Given the description of an element on the screen output the (x, y) to click on. 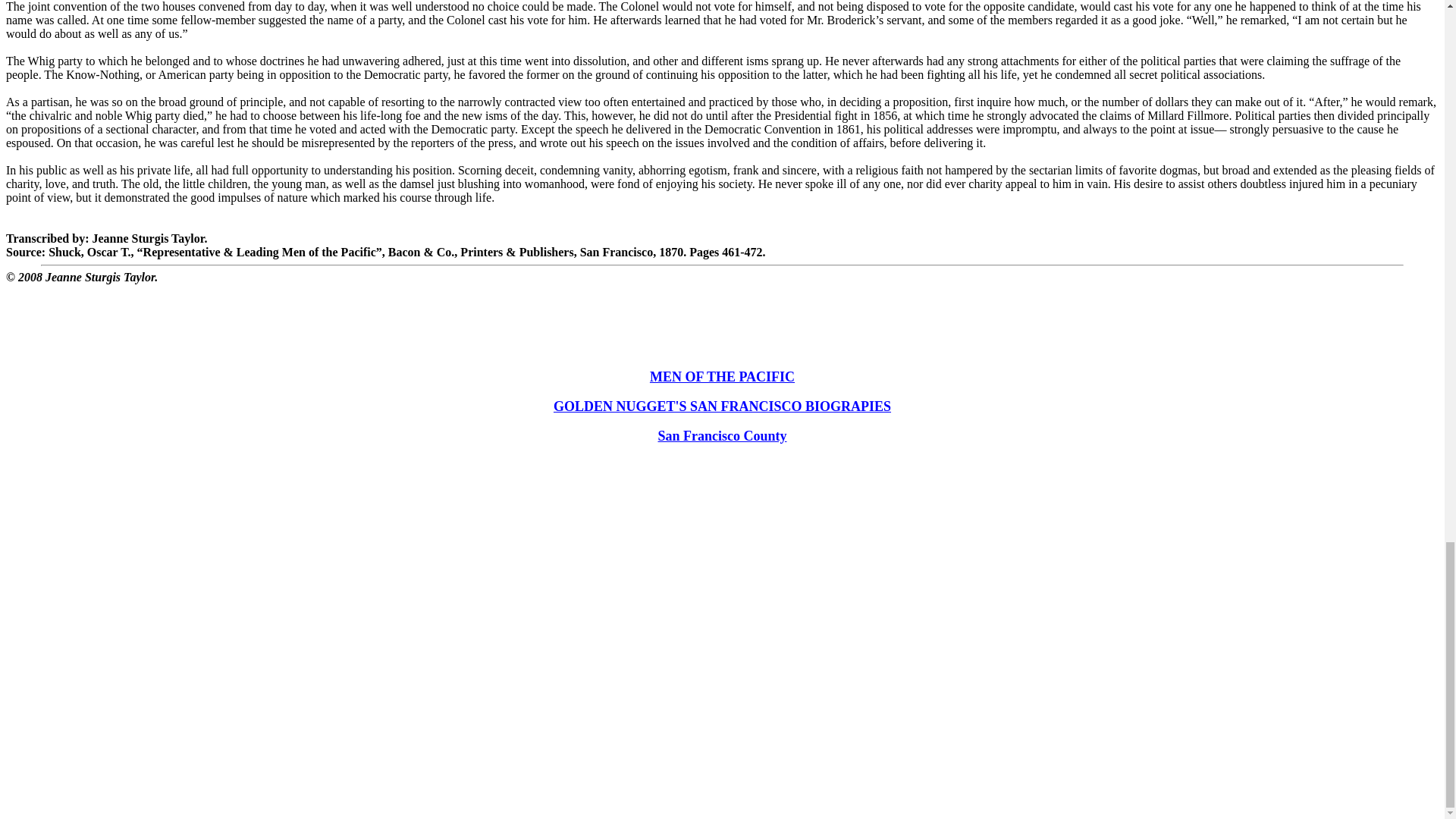
MEN OF THE PACIFIC (721, 377)
San Francisco County (722, 436)
GOLDEN NUGGET'S SAN FRANCISCO BIOGRAPIES (722, 406)
